Given the description of an element on the screen output the (x, y) to click on. 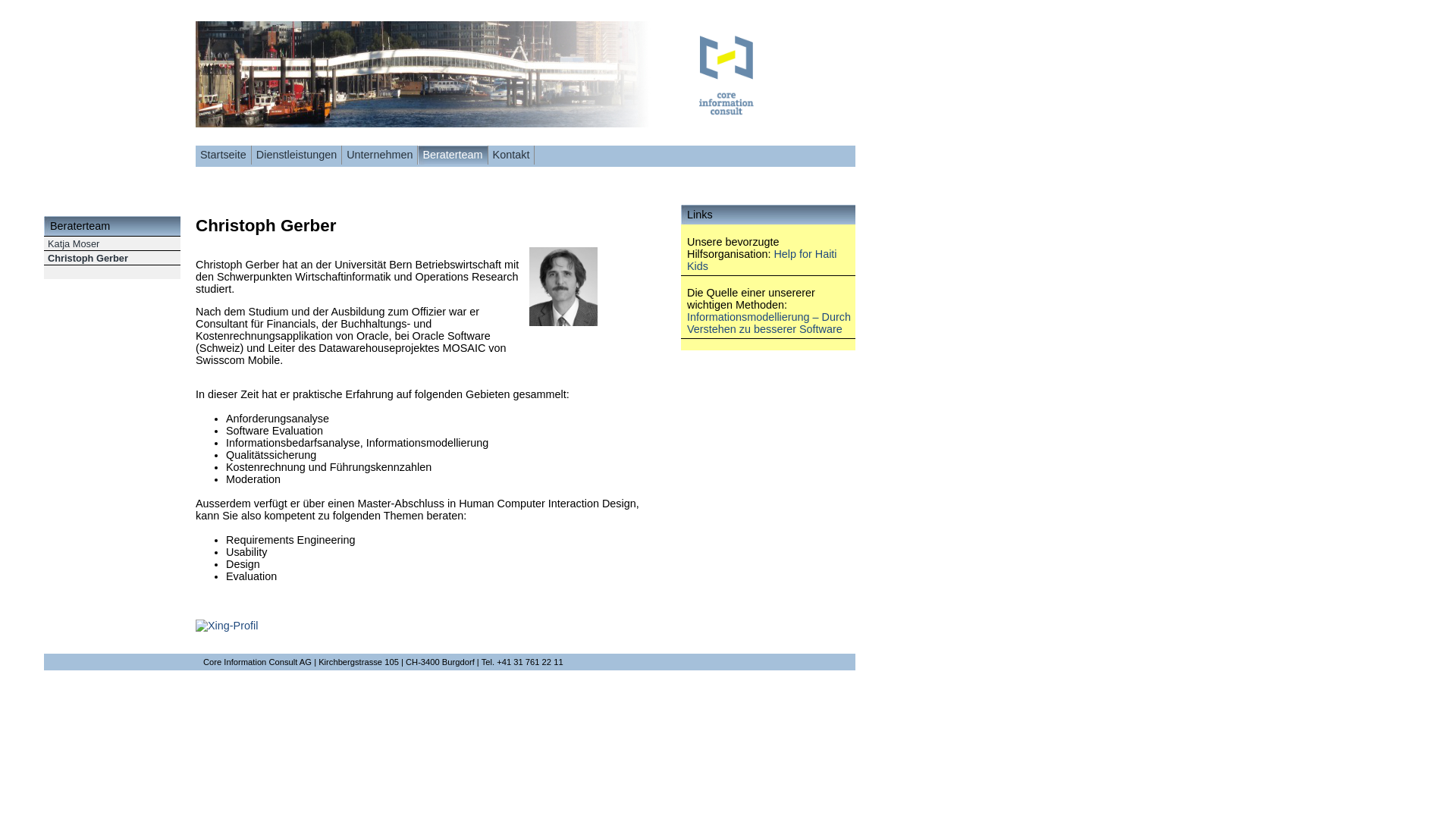
Unternehmen Element type: text (379, 154)
Christoph Gerber Element type: text (87, 257)
Beraterteam Element type: text (452, 154)
Dienstleistungen Element type: text (296, 154)
Startseite Element type: text (223, 154)
Katja Moser Element type: text (73, 243)
Help for Haiti Kids Element type: text (762, 259)
Kontakt Element type: text (511, 154)
Xing-Profil Element type: hover (226, 625)
